Given the description of an element on the screen output the (x, y) to click on. 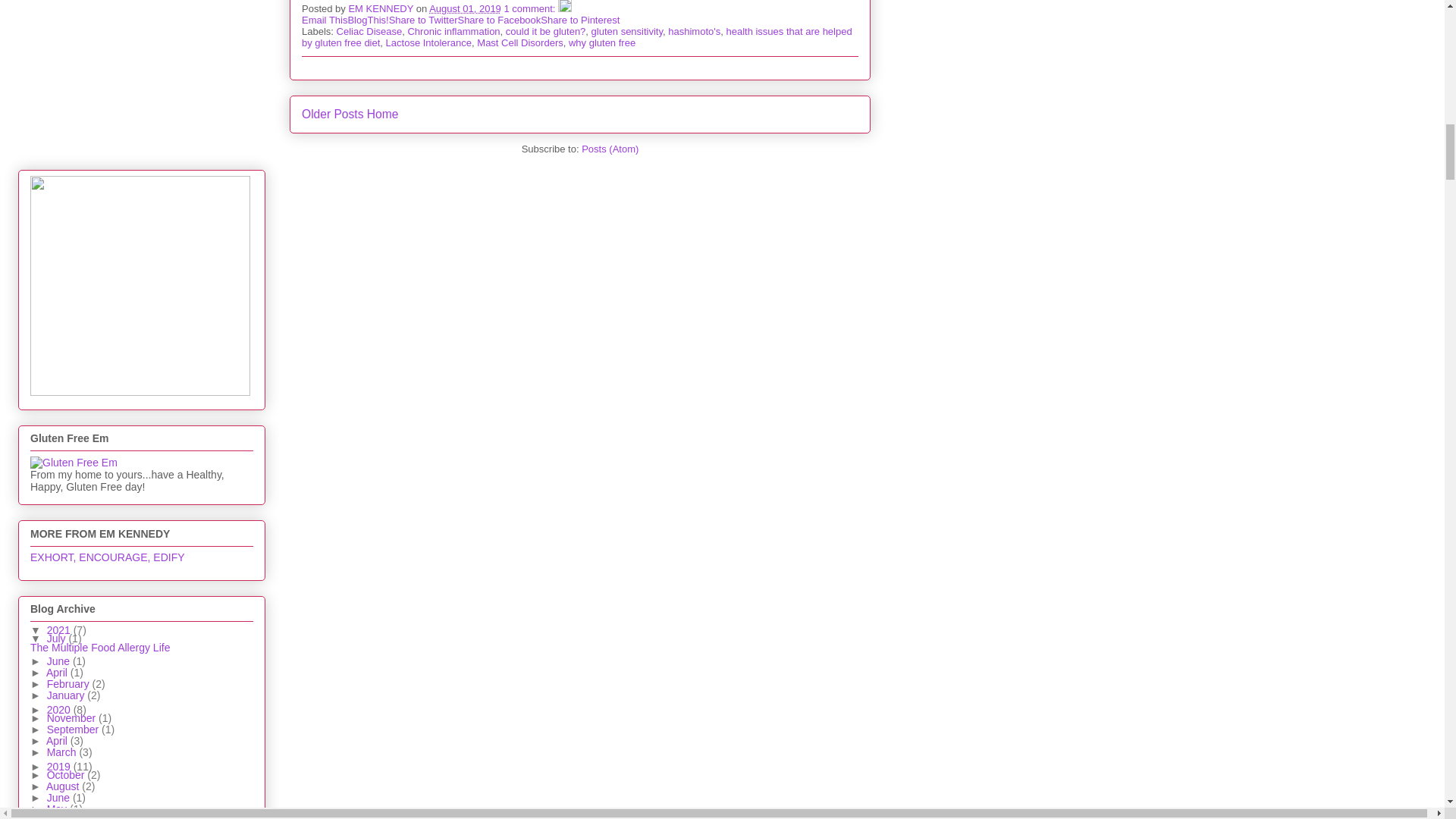
July (57, 638)
Email This (324, 19)
EXHORT, ENCOURAGE, EDIFY (107, 557)
could it be gluten? (545, 30)
August 01, 2019 (464, 8)
permanent link (464, 8)
Share to Facebook (498, 19)
BlogThis! (367, 19)
author profile (380, 8)
Older Posts (331, 113)
hashimoto's (694, 30)
Mast Cell Disorders (519, 42)
EM KENNEDY (380, 8)
2021 (60, 630)
Celiac Disease (369, 30)
